Given the description of an element on the screen output the (x, y) to click on. 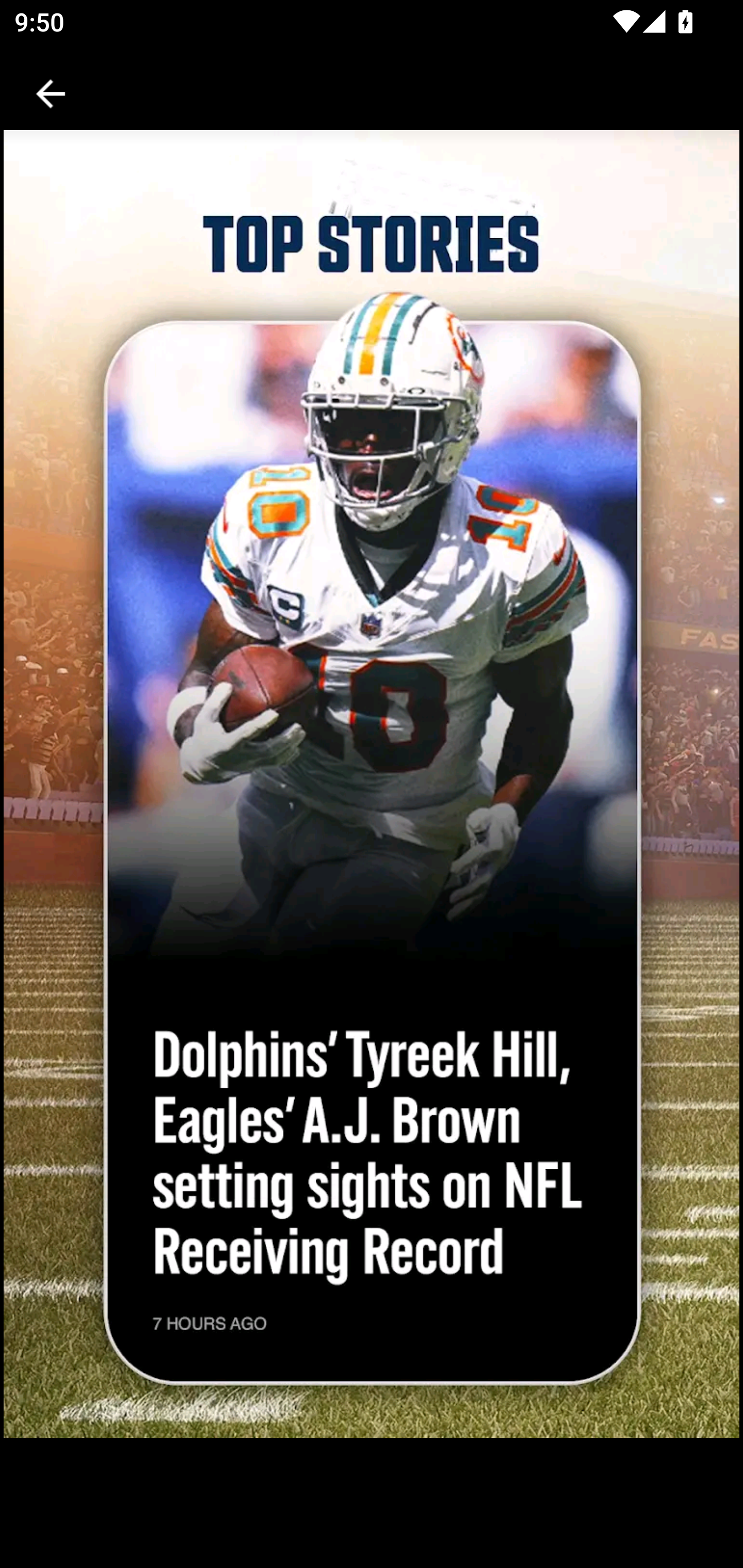
Back (50, 93)
